Given the description of an element on the screen output the (x, y) to click on. 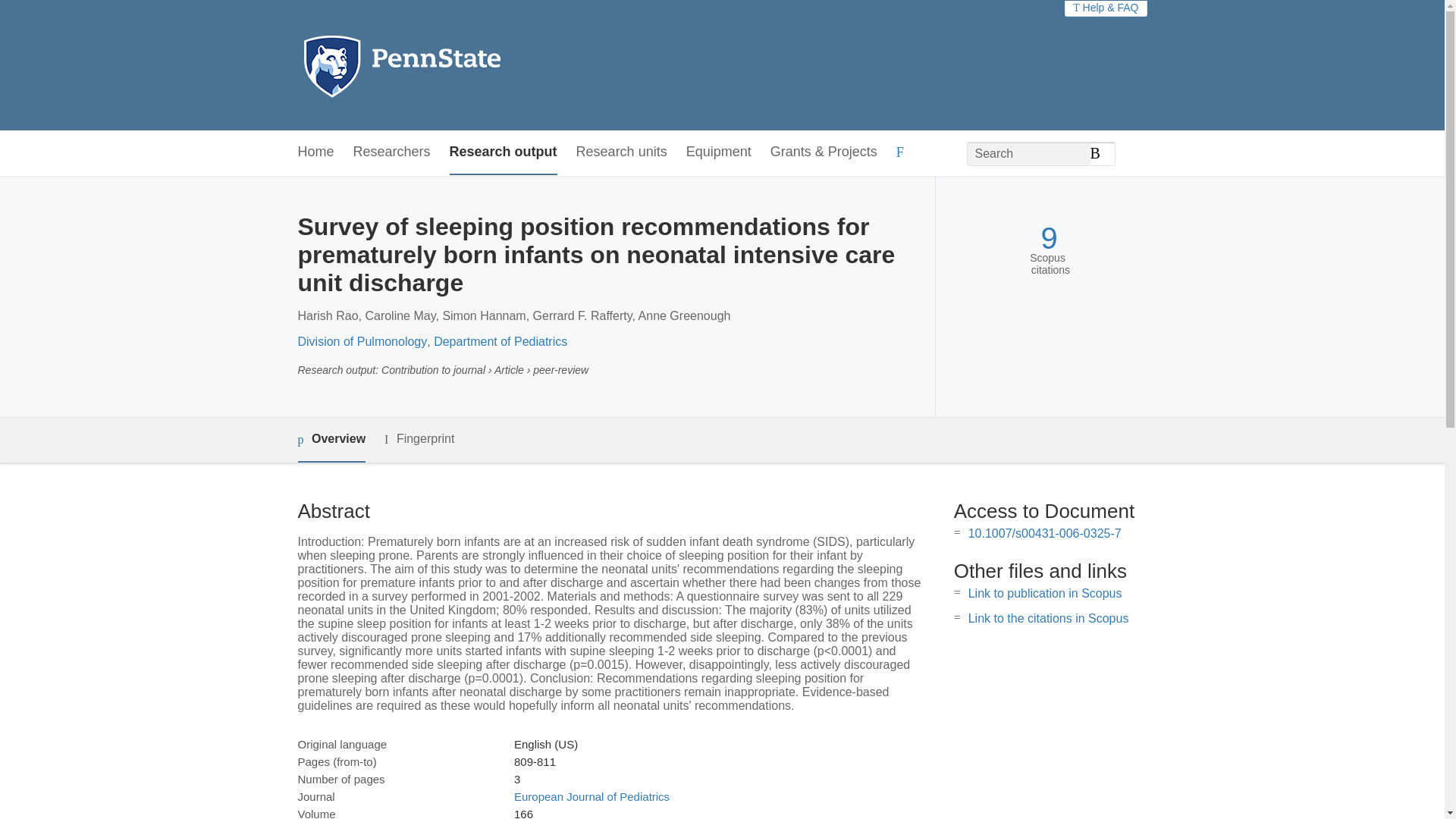
Research output (503, 152)
Fingerprint (419, 439)
Research units (621, 152)
Link to publication in Scopus (1045, 593)
Equipment (718, 152)
Overview (331, 439)
Penn State Home (467, 65)
European Journal of Pediatrics (591, 796)
Division of Pulmonology (361, 341)
